Given the description of an element on the screen output the (x, y) to click on. 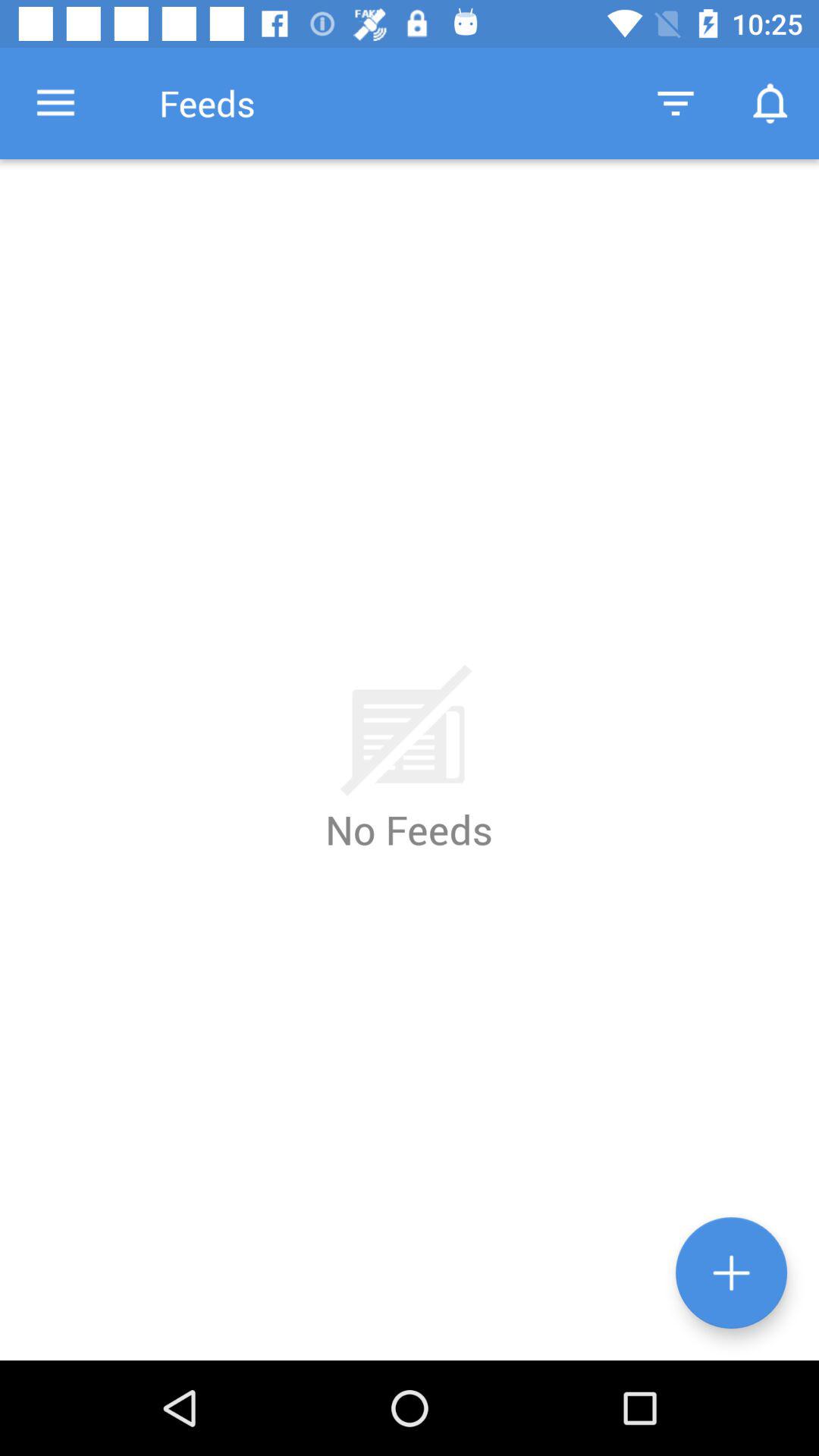
press item to the left of the feeds icon (55, 103)
